Given the description of an element on the screen output the (x, y) to click on. 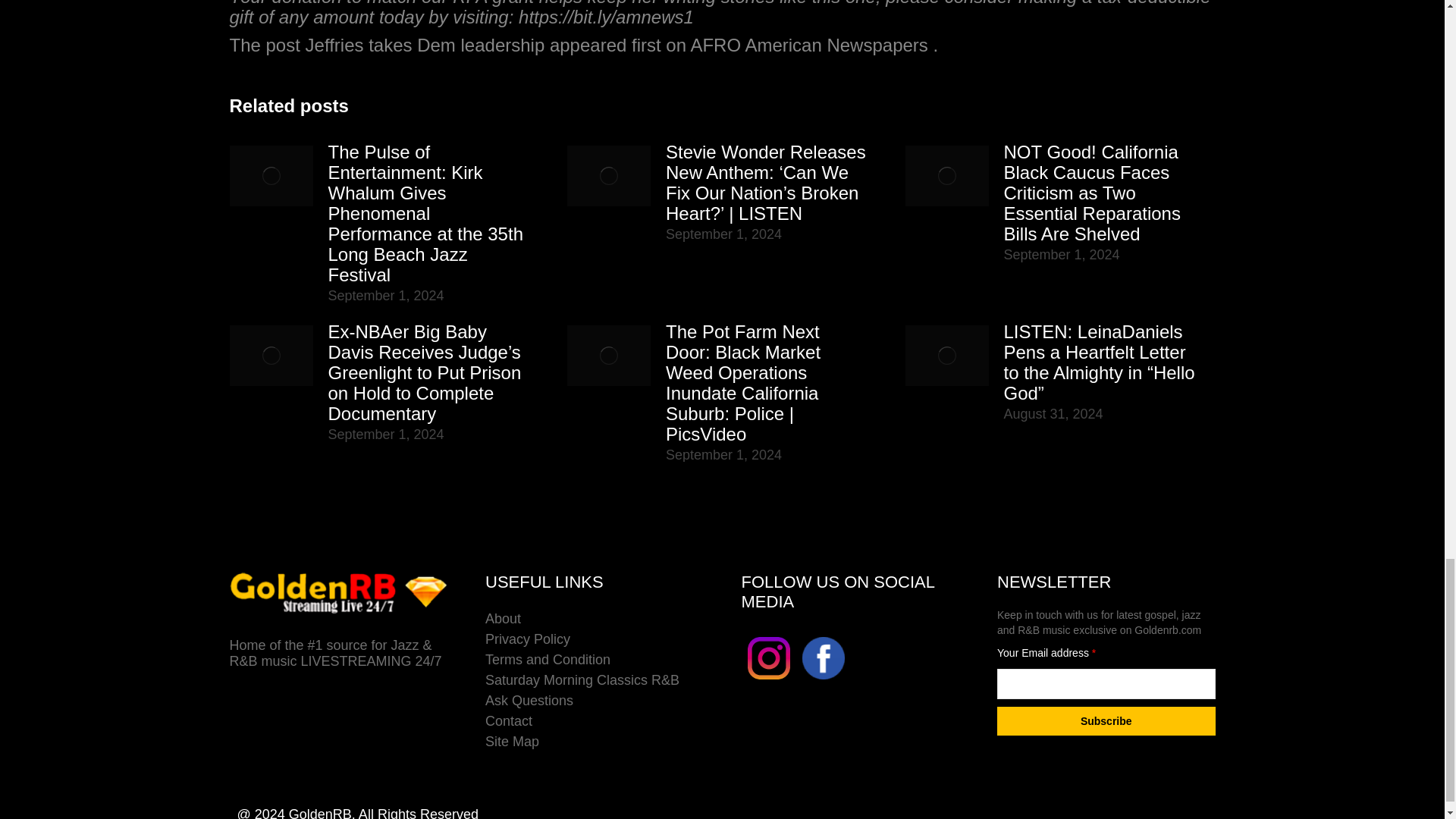
Subscribe (1106, 720)
Instagram (768, 680)
Facebook (823, 680)
Instagram (769, 658)
Facebook (823, 658)
